Given the description of an element on the screen output the (x, y) to click on. 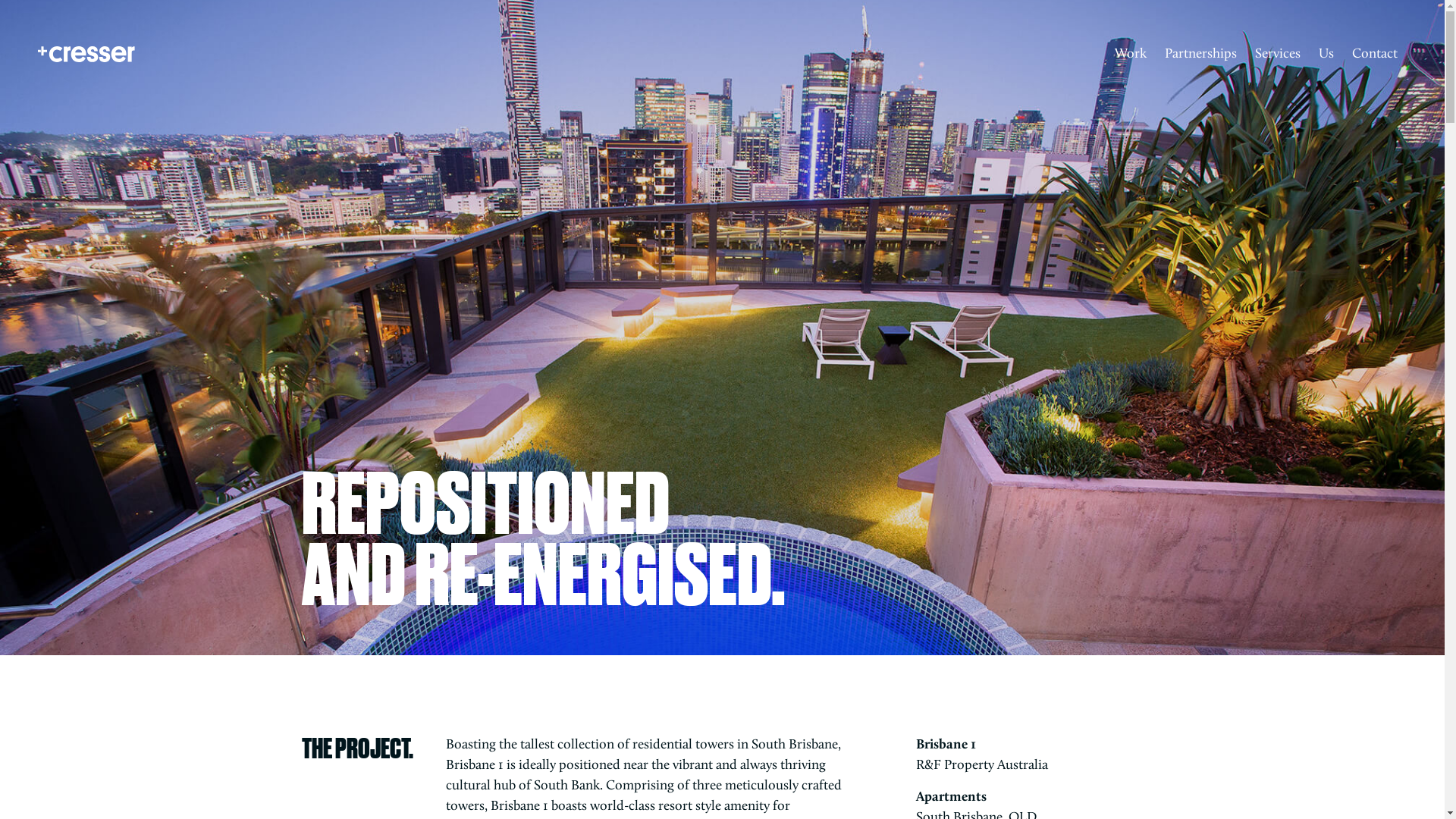
Services Element type: text (1277, 53)
Contact Element type: text (1374, 53)
Work Element type: text (1130, 53)
Partnerships Element type: text (1200, 53)
Us Element type: text (1326, 53)
